Given the description of an element on the screen output the (x, y) to click on. 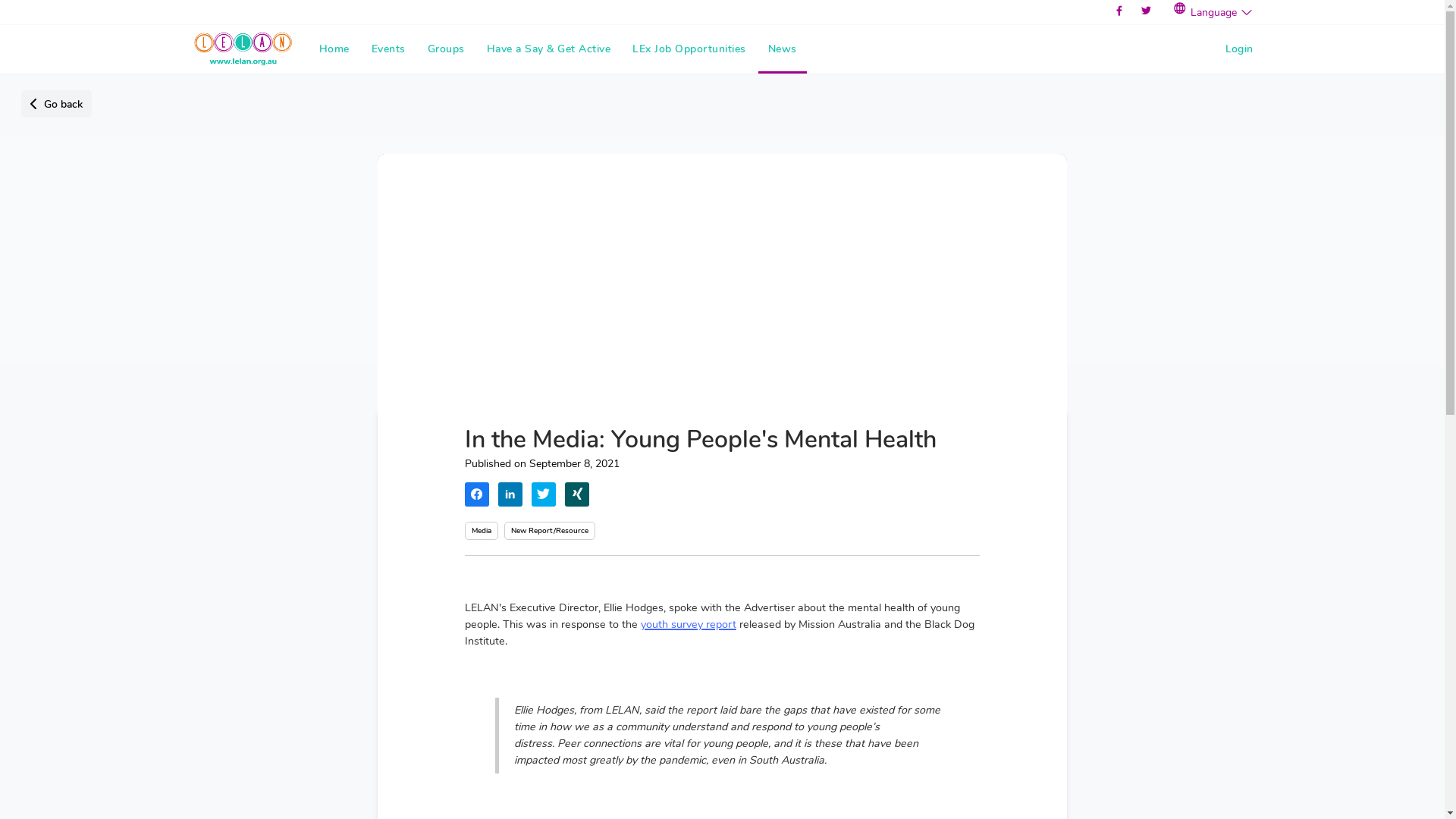
youth survey report Element type: text (688, 624)
Go to twitter page Element type: text (1145, 11)
Go to facebook page Element type: text (1119, 11)
News Element type: text (782, 48)
LEx Job Opportunities Element type: text (689, 48)
Events Element type: text (388, 48)
Have a Say & Get Active Element type: text (548, 48)
Groups Element type: text (445, 48)
Go back Element type: text (56, 103)
Home Element type: text (334, 48)
Login Element type: text (1239, 48)
